Given the description of an element on the screen output the (x, y) to click on. 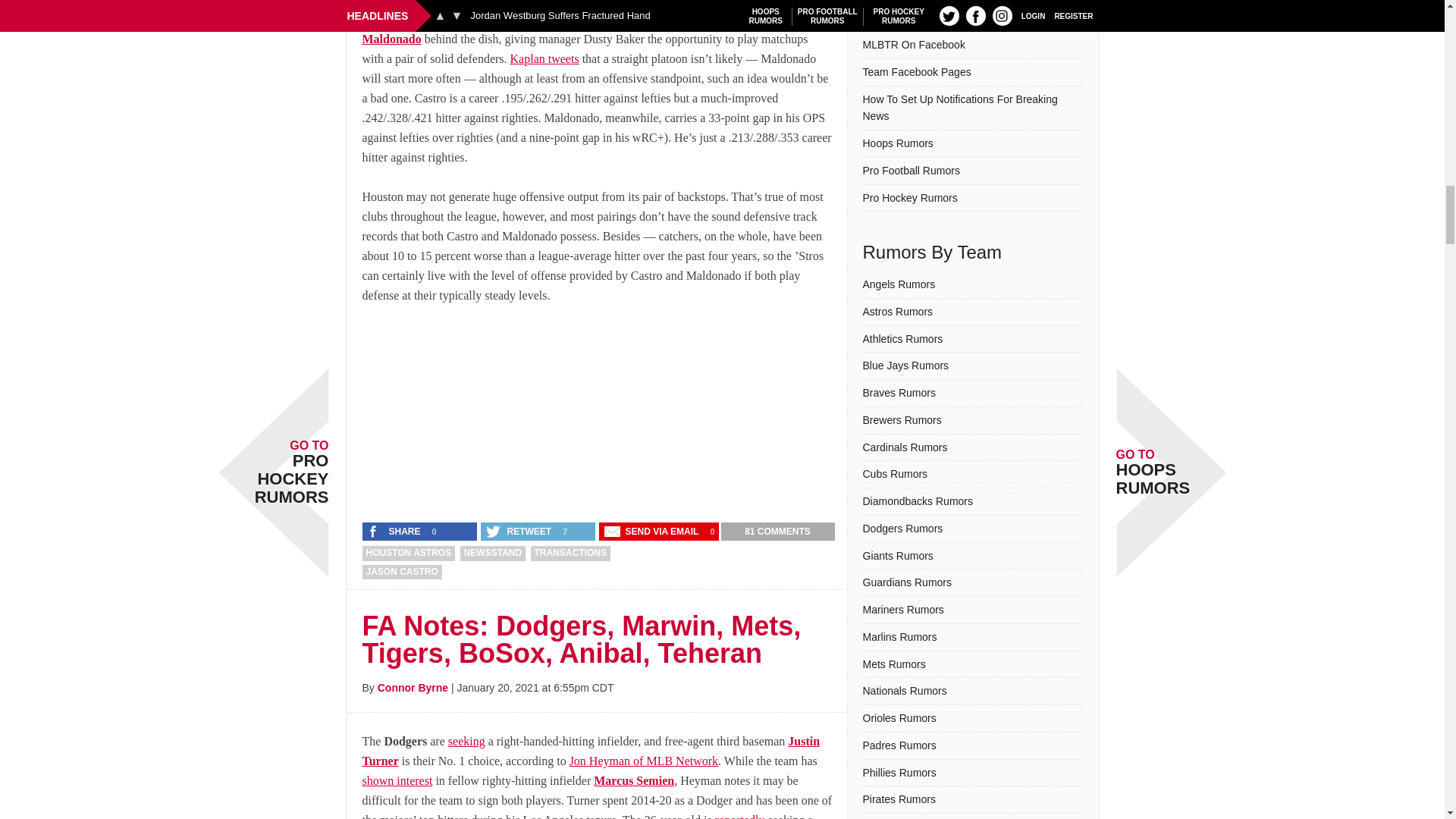
Share 'Astros Sign Jason Castro' on Facebook (395, 531)
Send Astros Sign Jason Castro with an email (652, 531)
Retweet 'Astros Sign Jason Castro' on Twitter (519, 531)
